Given the description of an element on the screen output the (x, y) to click on. 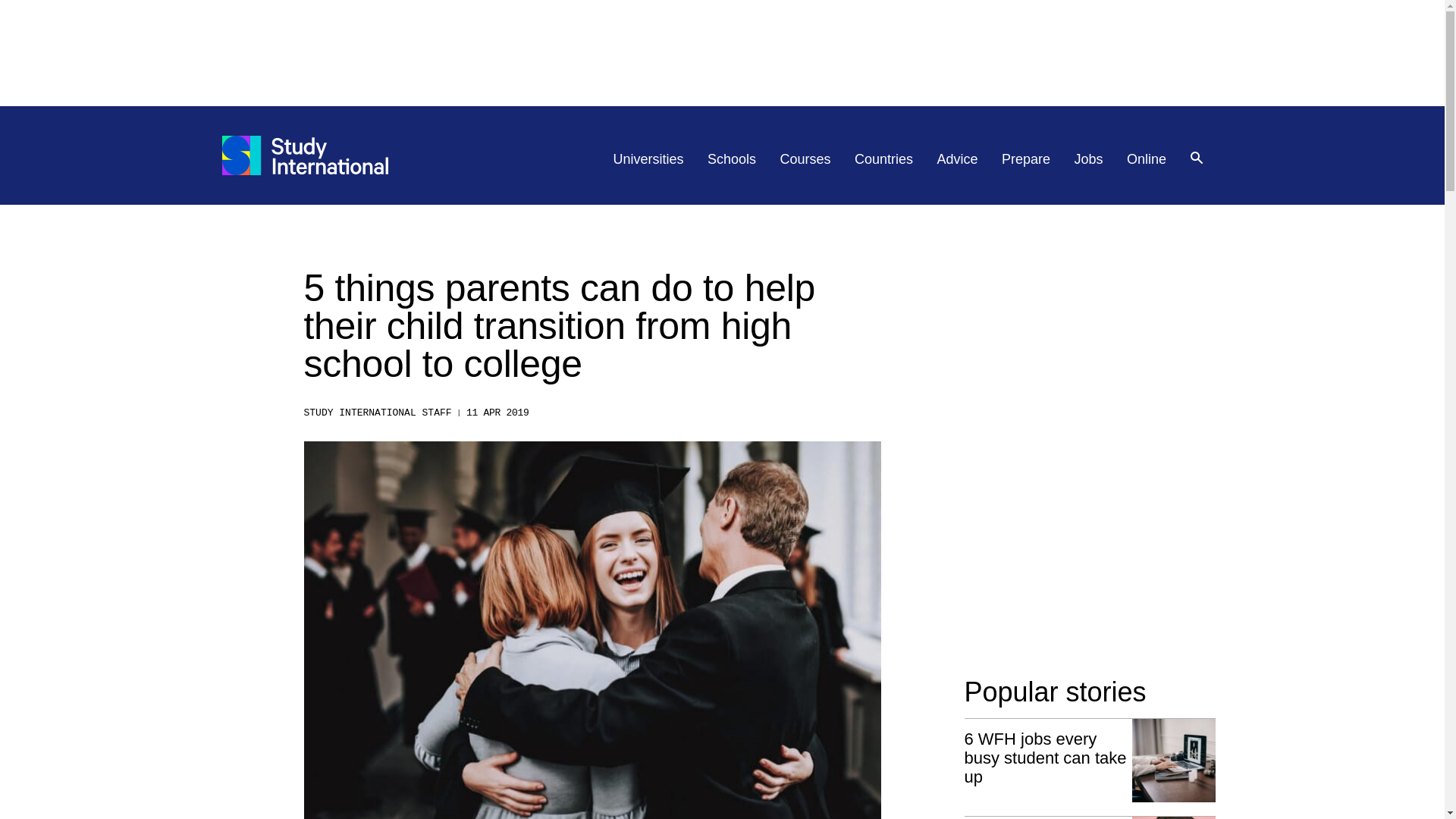
STUDY INTERNATIONAL STAFF (376, 412)
Courses (805, 159)
6 WFH jobs every busy student can take up (1089, 761)
Jobs (1088, 159)
Schools (731, 159)
Advice (957, 159)
Online (1146, 159)
8 sexiest languages in the world (1089, 817)
Prepare (1025, 159)
Universities (648, 159)
